Given the description of an element on the screen output the (x, y) to click on. 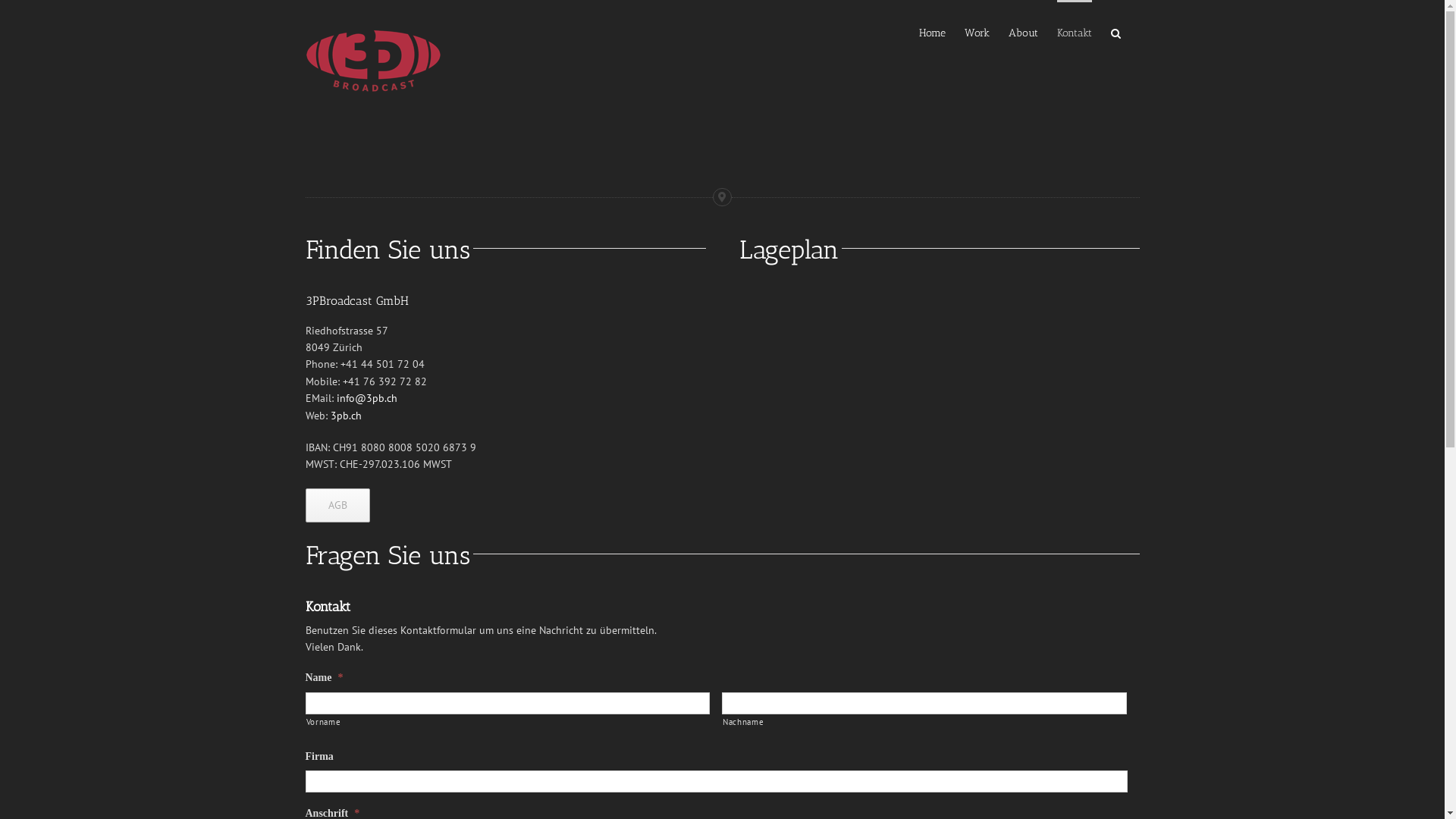
AGB Element type: text (336, 505)
Work Element type: text (976, 31)
info@3pb.ch Element type: text (366, 397)
Suche Element type: hover (1115, 31)
About Element type: text (1023, 31)
3pb.ch Element type: text (345, 415)
Kontakt Element type: text (1074, 31)
Home Element type: text (932, 31)
